Given the description of an element on the screen output the (x, y) to click on. 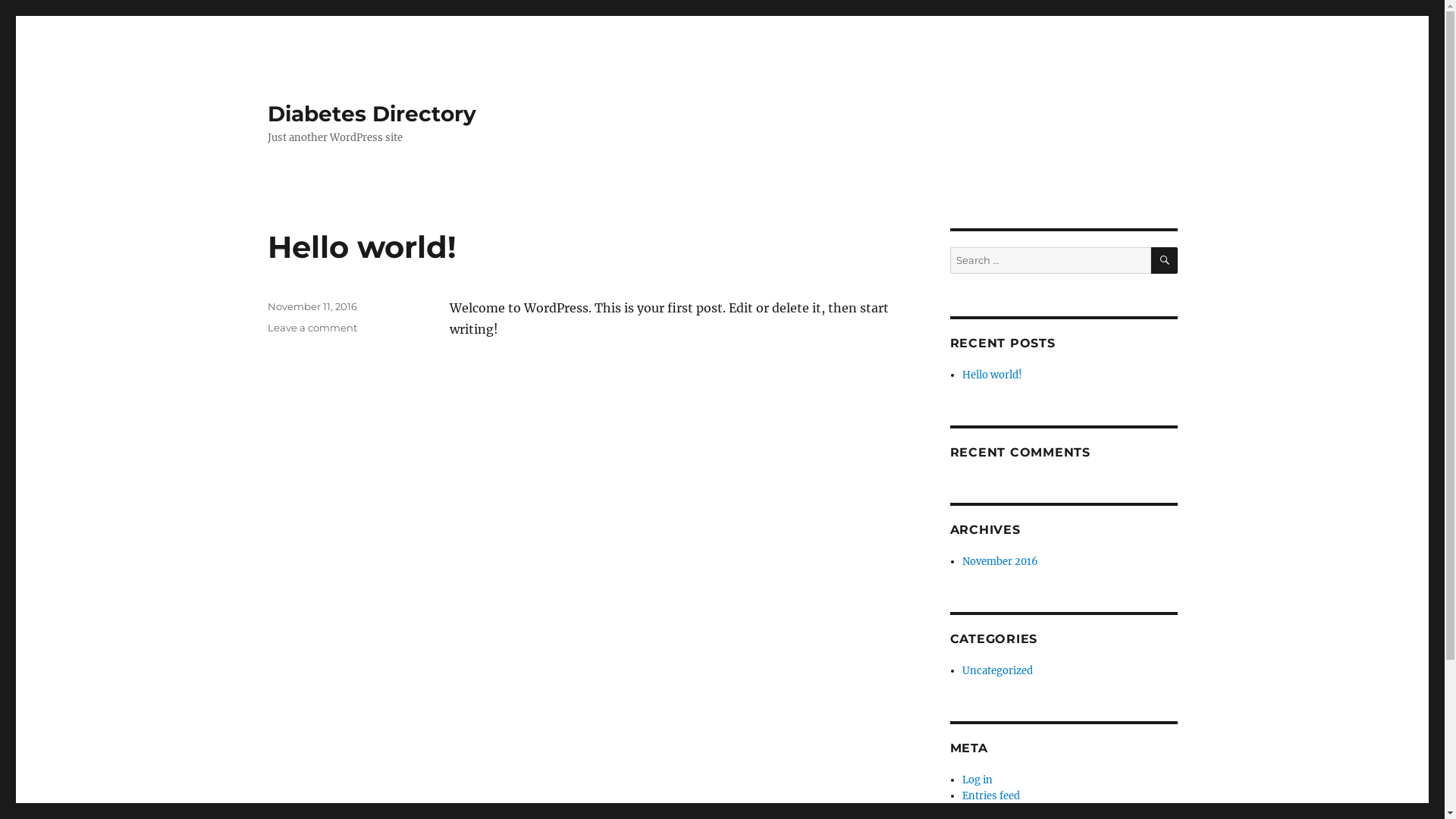
Uncategorized Element type: text (997, 670)
Entries feed Element type: text (990, 795)
November 11, 2016 Element type: text (311, 306)
Leave a comment
on Hello world! Element type: text (311, 327)
Hello world! Element type: text (360, 246)
Diabetes Directory Element type: text (370, 113)
Comments feed Element type: text (1000, 811)
November 2016 Element type: text (1000, 561)
Hello world! Element type: text (992, 374)
Log in Element type: text (977, 779)
SEARCH Element type: text (1164, 260)
